Given the description of an element on the screen output the (x, y) to click on. 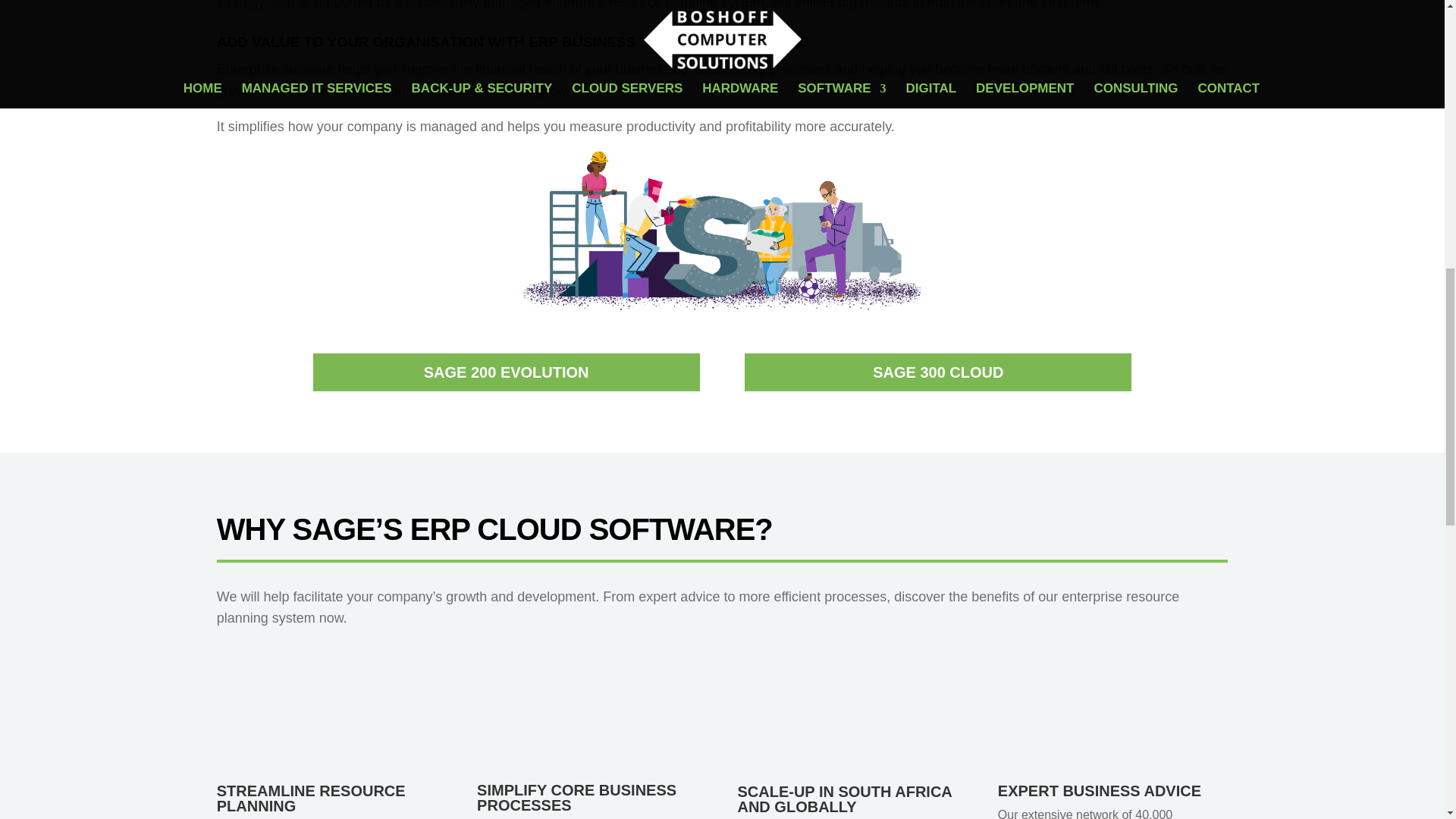
SAGE 200 EVOLUTION (505, 371)
SAGE 300 CLOUD (937, 371)
